Given the description of an element on the screen output the (x, y) to click on. 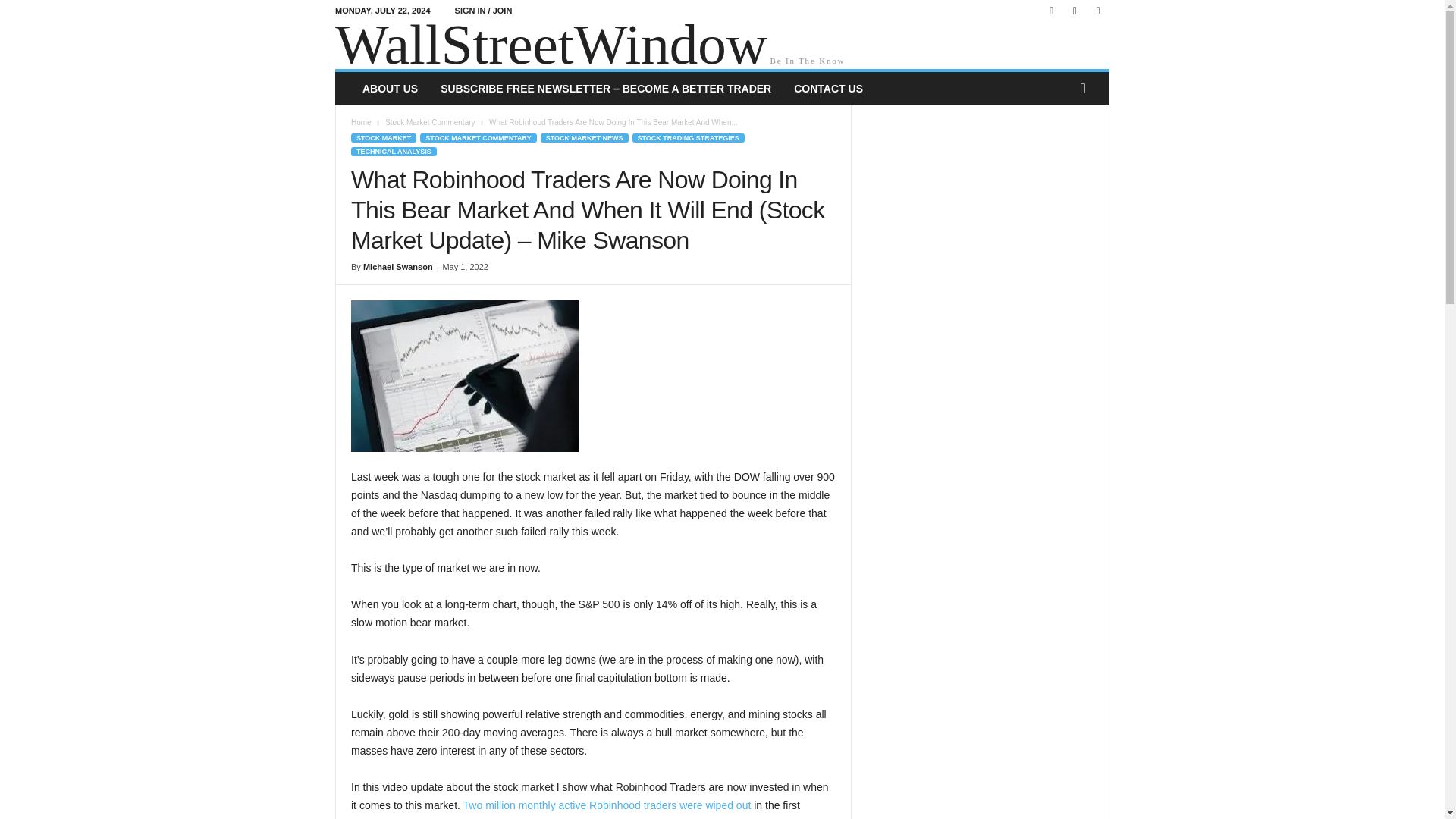
Home (360, 121)
STOCK MARKET (383, 137)
feat-technicalanalysis (464, 376)
View all posts in Stock Market Commentary (429, 121)
Michael Swanson (397, 266)
Stock Market Commentary (429, 121)
ABOUT US (389, 88)
Two million monthly active Robinhood traders were wiped out (607, 805)
STOCK MARKET NEWS (584, 137)
STOCK TRADING STRATEGIES (687, 137)
TECHNICAL ANALYSIS (393, 151)
CONTACT US (829, 88)
WallStreetWindow Be In The Know (721, 45)
STOCK MARKET COMMENTARY (477, 137)
